Given the description of an element on the screen output the (x, y) to click on. 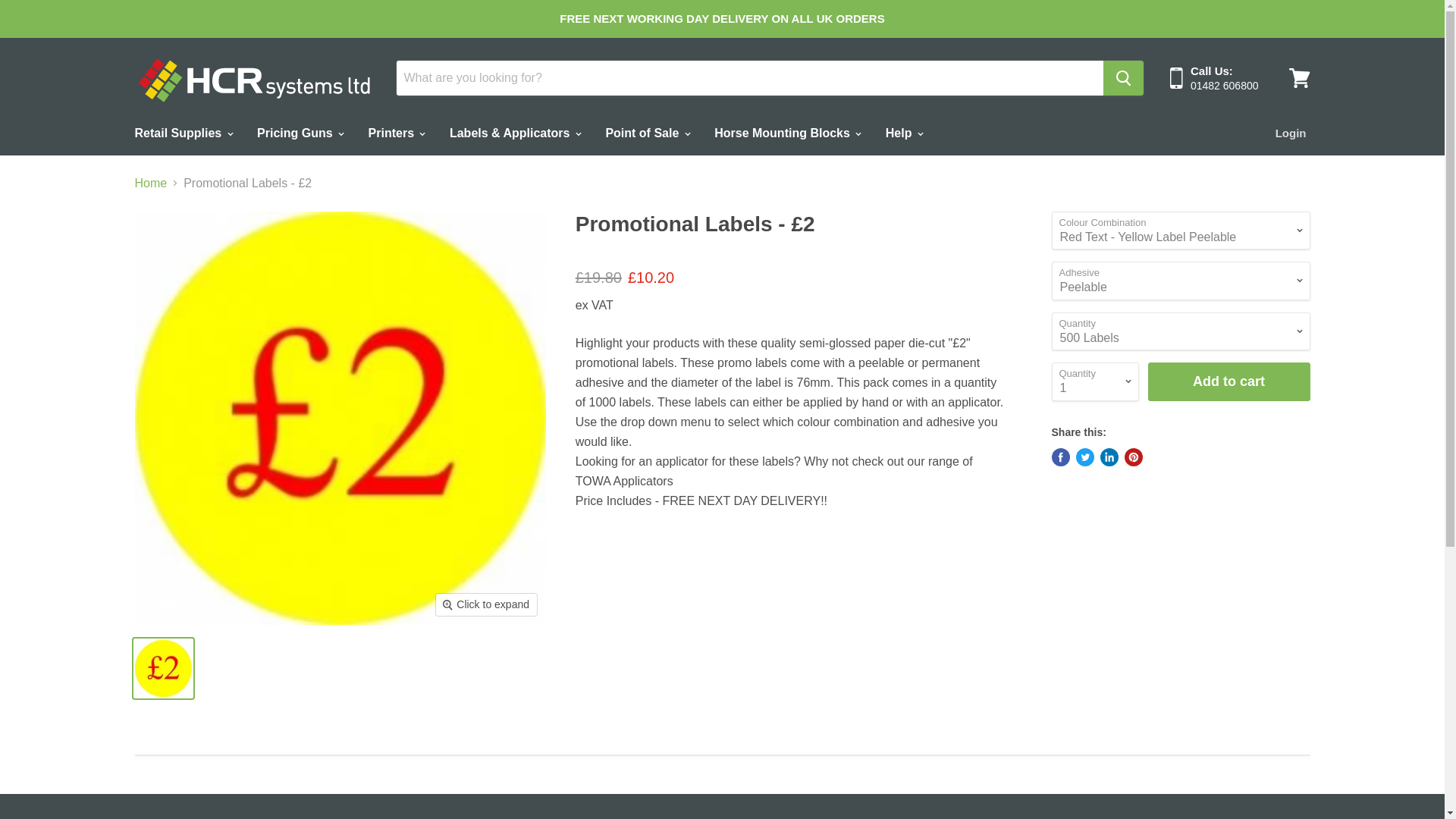
View cart (1299, 77)
Retail Supplies (181, 132)
Pricing Guns (299, 132)
